Given the description of an element on the screen output the (x, y) to click on. 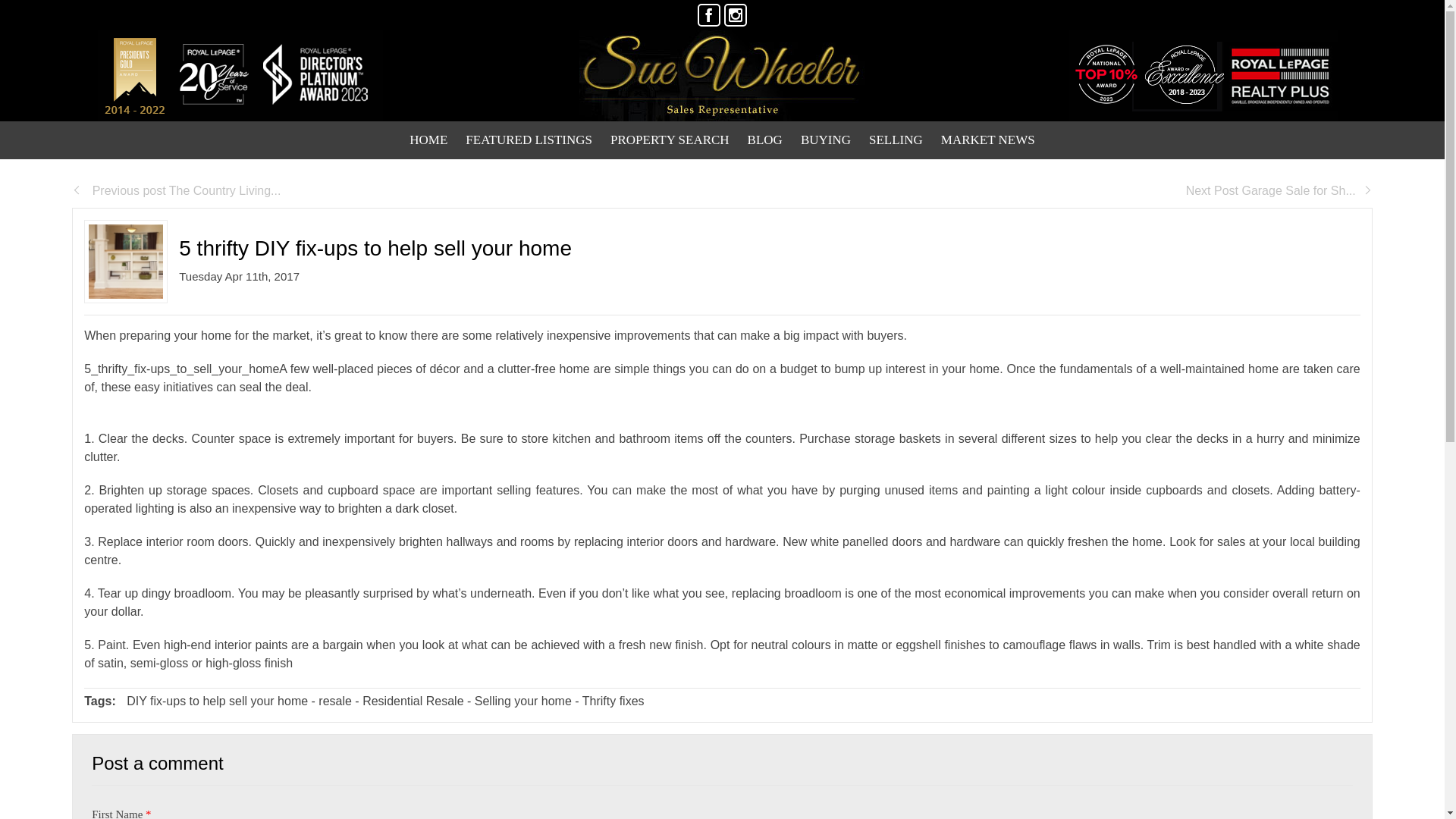
Featured Listings (529, 139)
Buying (826, 139)
Facebook (708, 15)
DIY fix-ups to help sell your home (216, 700)
Residential Resale (412, 700)
Thrifty fixes (613, 700)
HOME (428, 139)
Instagram (734, 15)
Property Search (669, 139)
Previous post The Country Living... (176, 190)
